Given the description of an element on the screen output the (x, y) to click on. 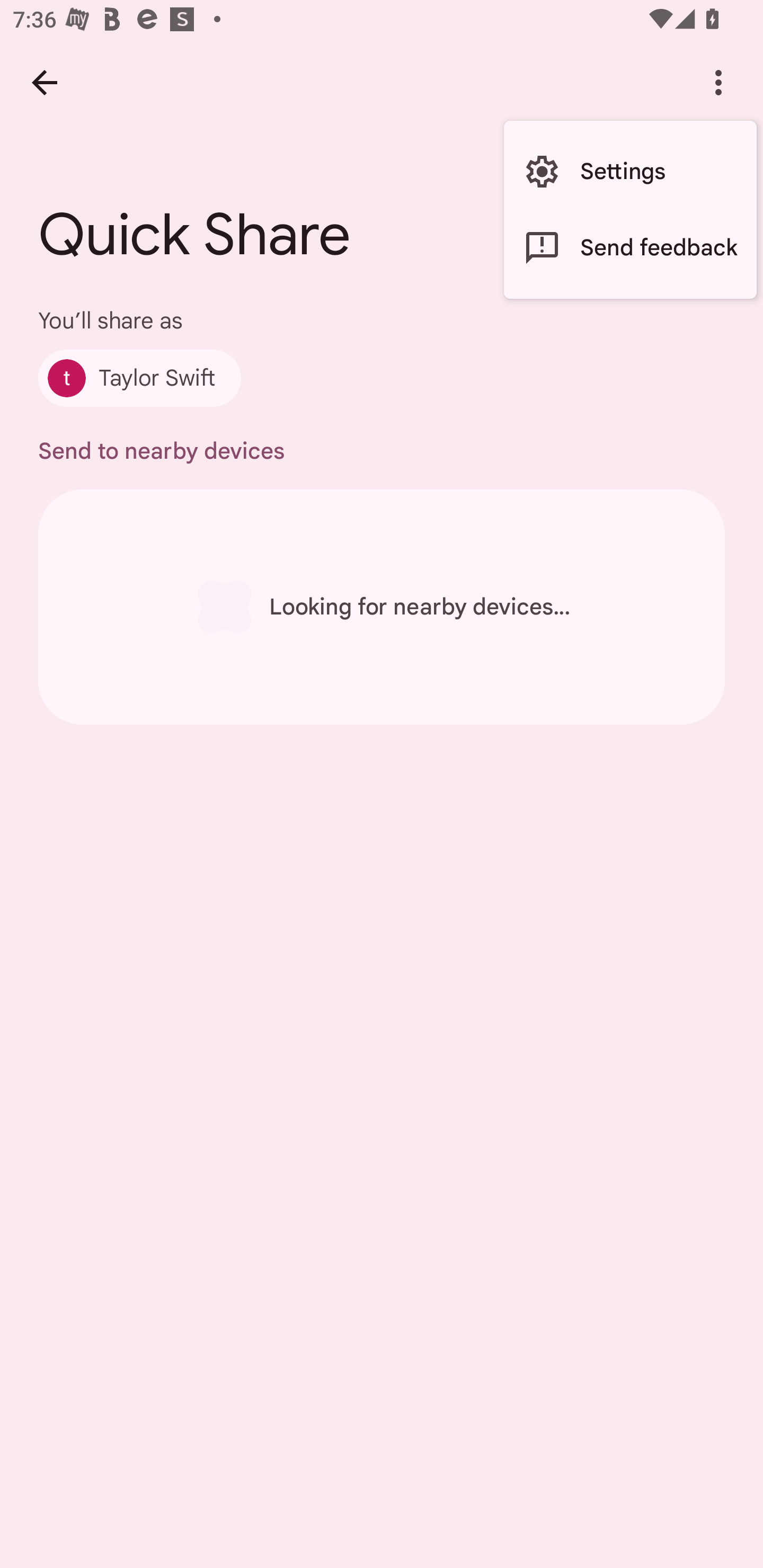
Settings (629, 171)
Send feedback (629, 247)
